Given the description of an element on the screen output the (x, y) to click on. 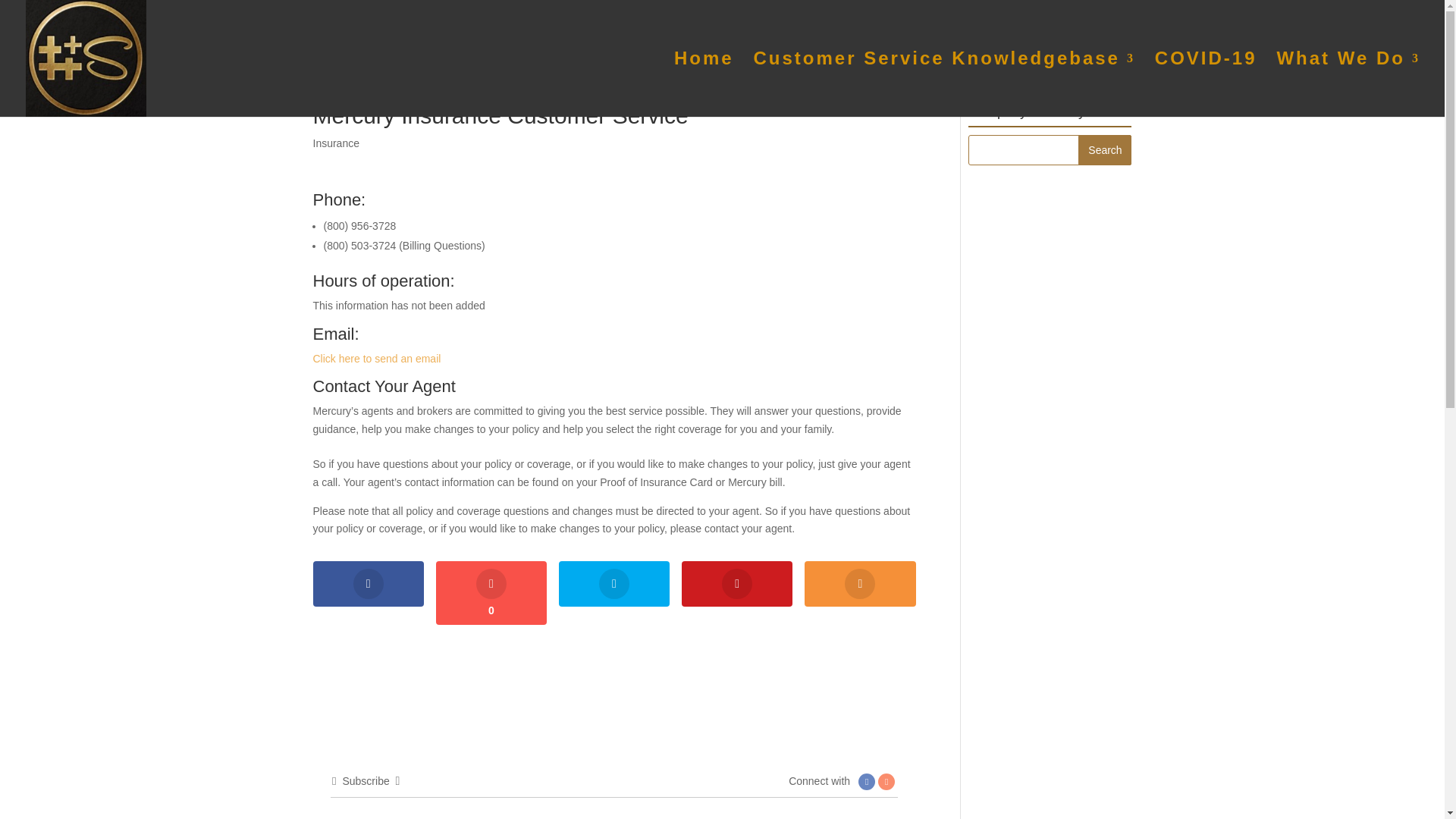
COVID-19 (1205, 85)
Home (703, 85)
0 (491, 592)
Insurance (335, 143)
Search (1104, 150)
Click here to send an email (377, 358)
Customer Service Knowledgebase (944, 85)
What We Do (1348, 85)
